Given the description of an element on the screen output the (x, y) to click on. 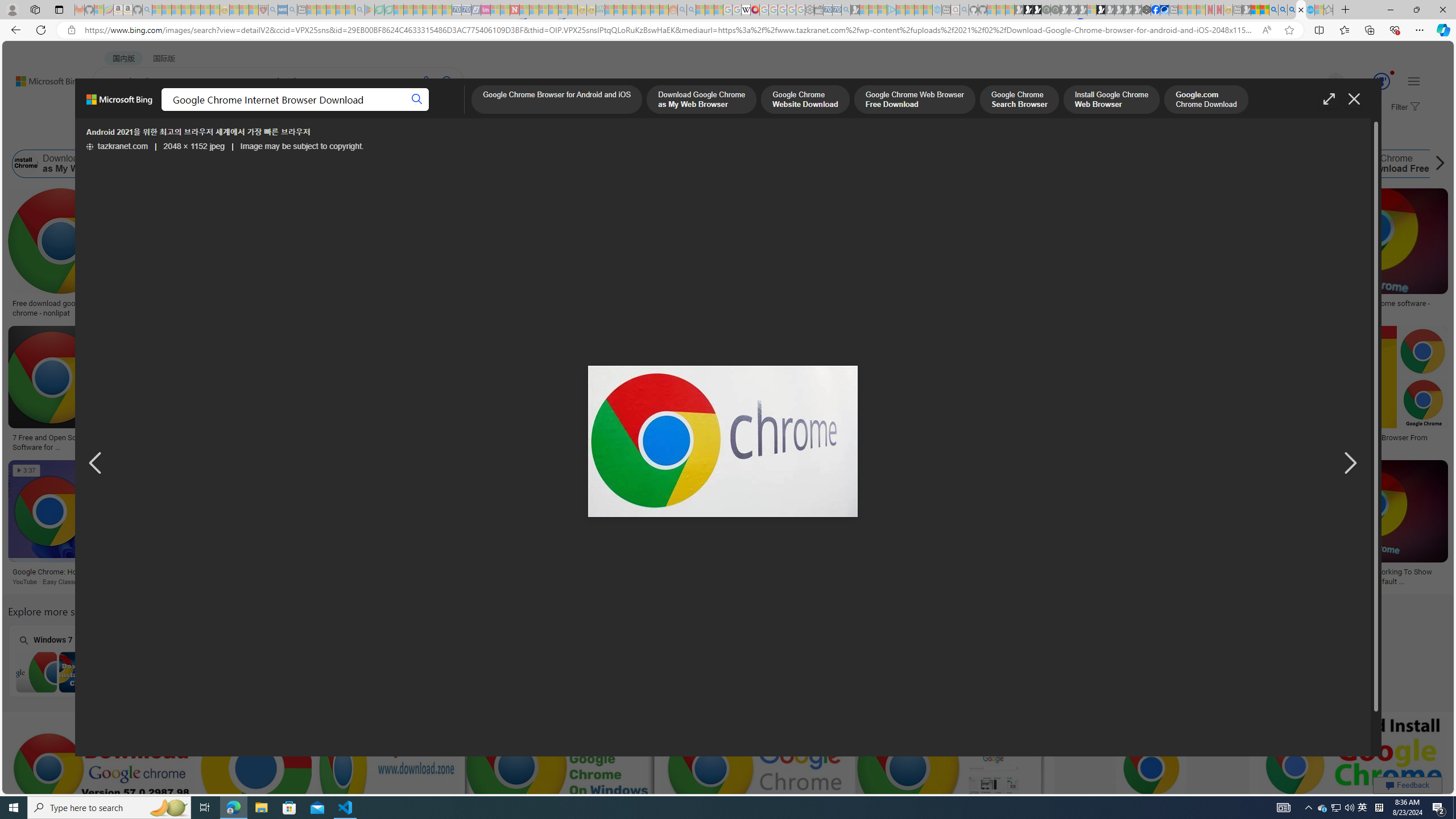
Google chrome web browser free download for Mac and Window (1192, 307)
Chrome Browser Download Windows 10 64-Bit (370, 671)
Google.com Chrome Download (735, 163)
Home | Sky Blue Bikes - Sky Blue Bikes - Sleeping (936, 9)
Play Zoo Boom in your browser | Games from Microsoft Start (1027, 9)
wizardsgase - Blog (826, 303)
Robert H. Shmerling, MD - Harvard Health - Sleeping (263, 9)
Cheap Car Rentals - Save70.com - Sleeping (836, 9)
Previous image result (95, 463)
